Given the description of an element on the screen output the (x, y) to click on. 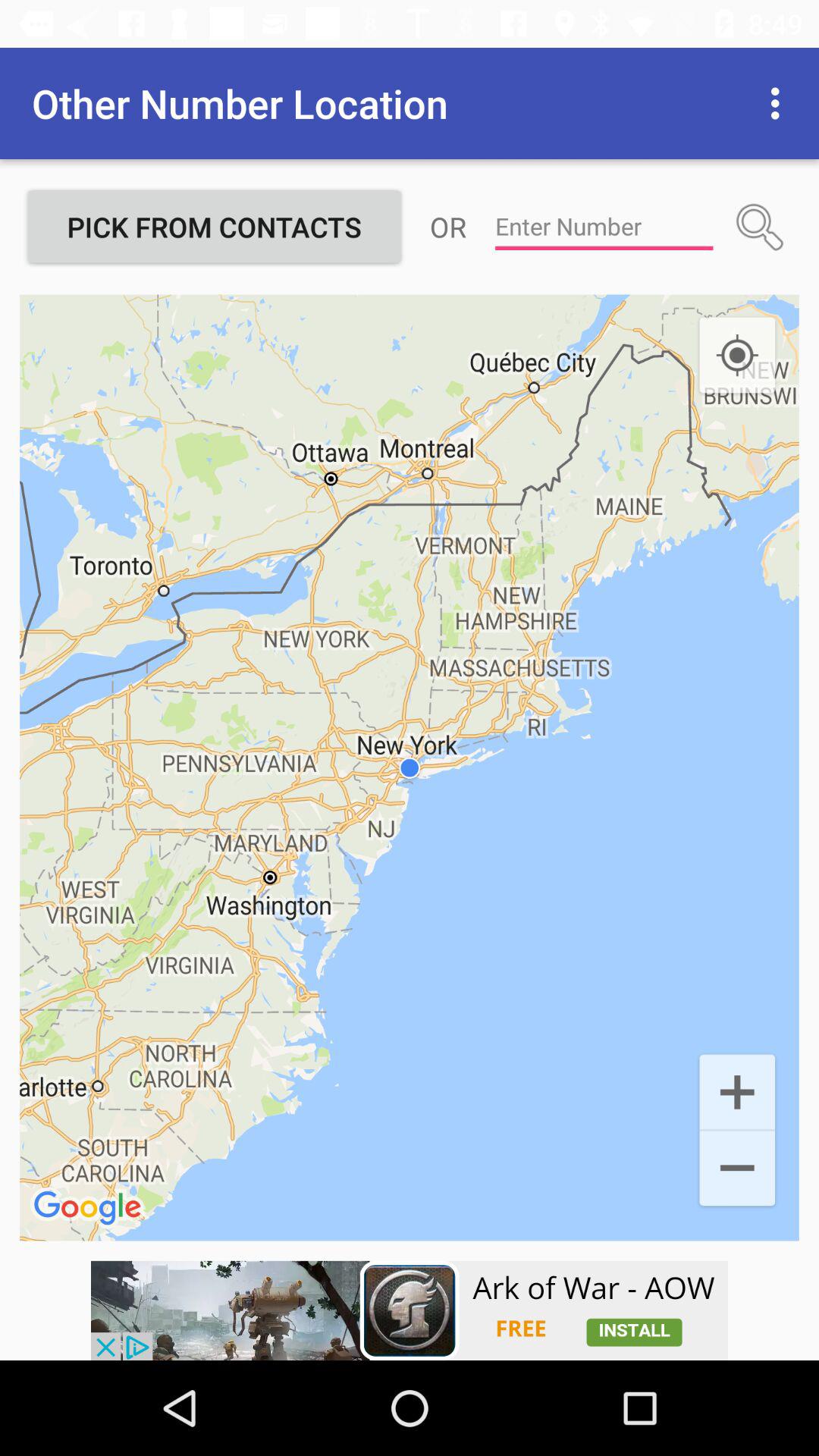
search number (759, 226)
